Given the description of an element on the screen output the (x, y) to click on. 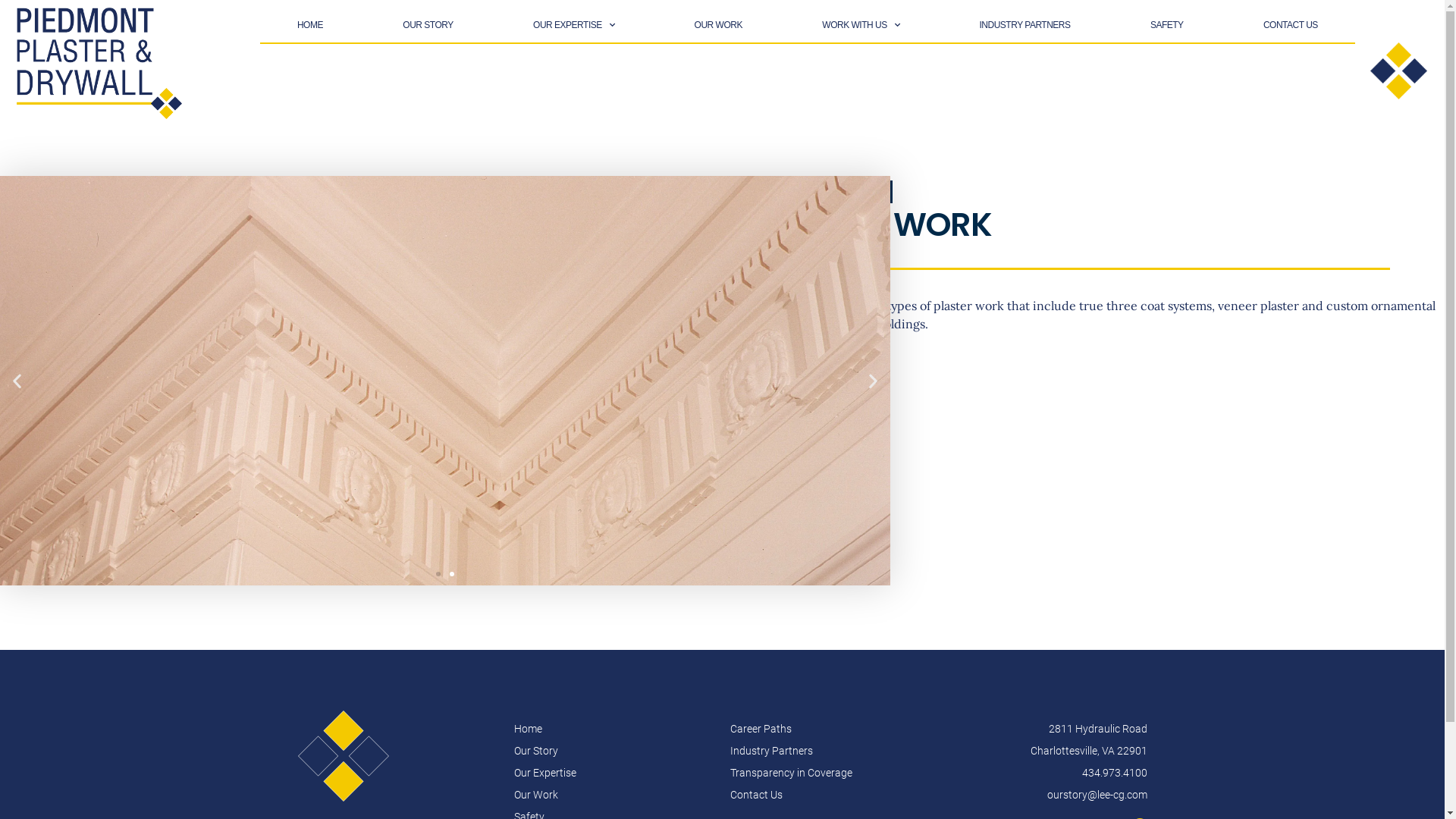
WORK WITH US Element type: text (860, 24)
Our Expertise Element type: text (614, 773)
OUR WORK Element type: text (717, 24)
Our Work Element type: text (614, 795)
Career Paths Element type: text (829, 729)
Industry Partners Element type: text (829, 751)
Transparency in Coverage Element type: text (829, 773)
CONTACT US Element type: text (1290, 24)
OUR STORY Element type: text (427, 24)
Our Story Element type: text (614, 751)
Contact Us Element type: text (829, 795)
Home Element type: text (614, 729)
INDUSTRY PARTNERS Element type: text (1024, 24)
LEE Comp Mark White Border (RGB-PNG) Element type: hover (342, 755)
HOME Element type: text (310, 24)
OUR EXPERTISE Element type: text (573, 24)
SAFETY Element type: text (1166, 24)
